Given the description of an element on the screen output the (x, y) to click on. 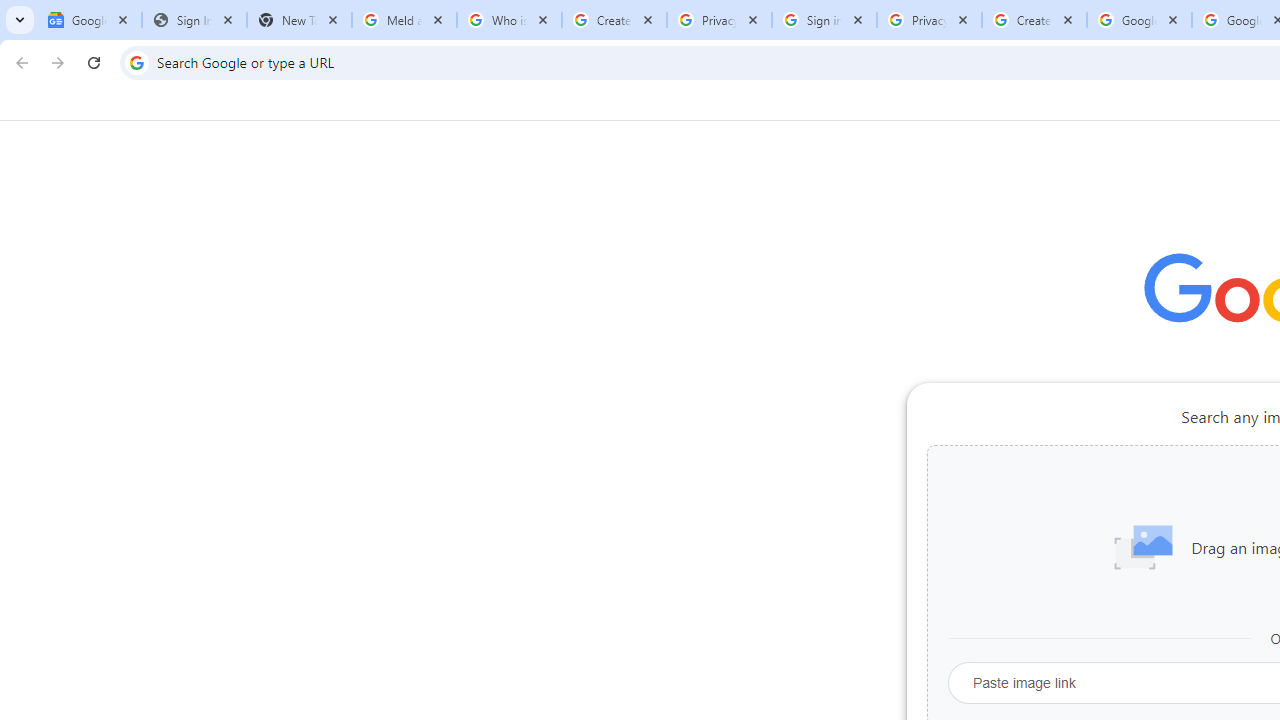
More actions for Sign in shortcut (1095, 466)
Who is my administrator? - Google Account Help (509, 20)
Sign in - Google Accounts (823, 20)
